Given the description of an element on the screen output the (x, y) to click on. 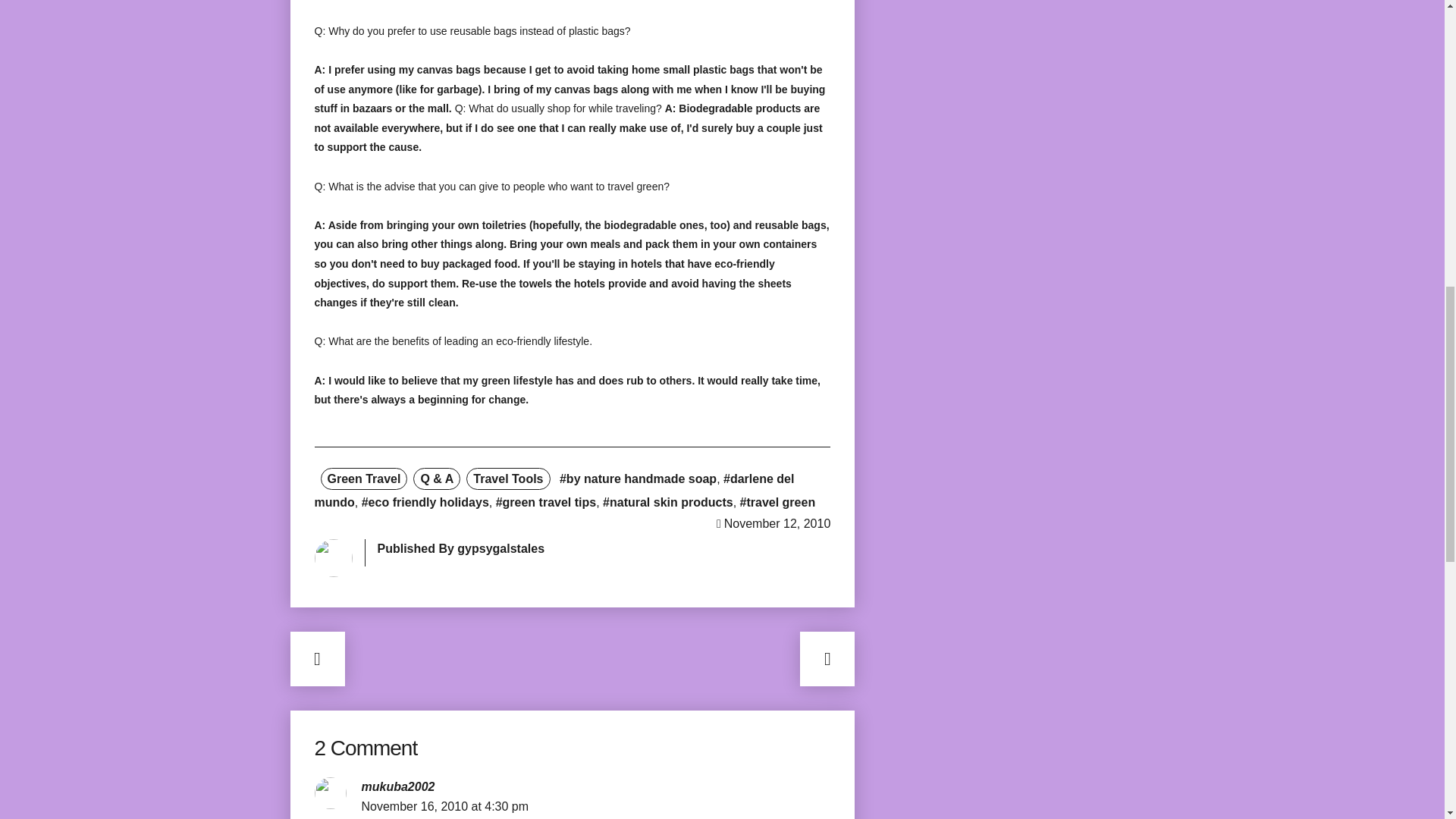
gypsygalstales (500, 548)
Green Travel (363, 478)
mukuba2002 (397, 786)
Travel Tools (507, 478)
November 16, 2010 at 4:30 pm (444, 806)
